Given the description of an element on the screen output the (x, y) to click on. 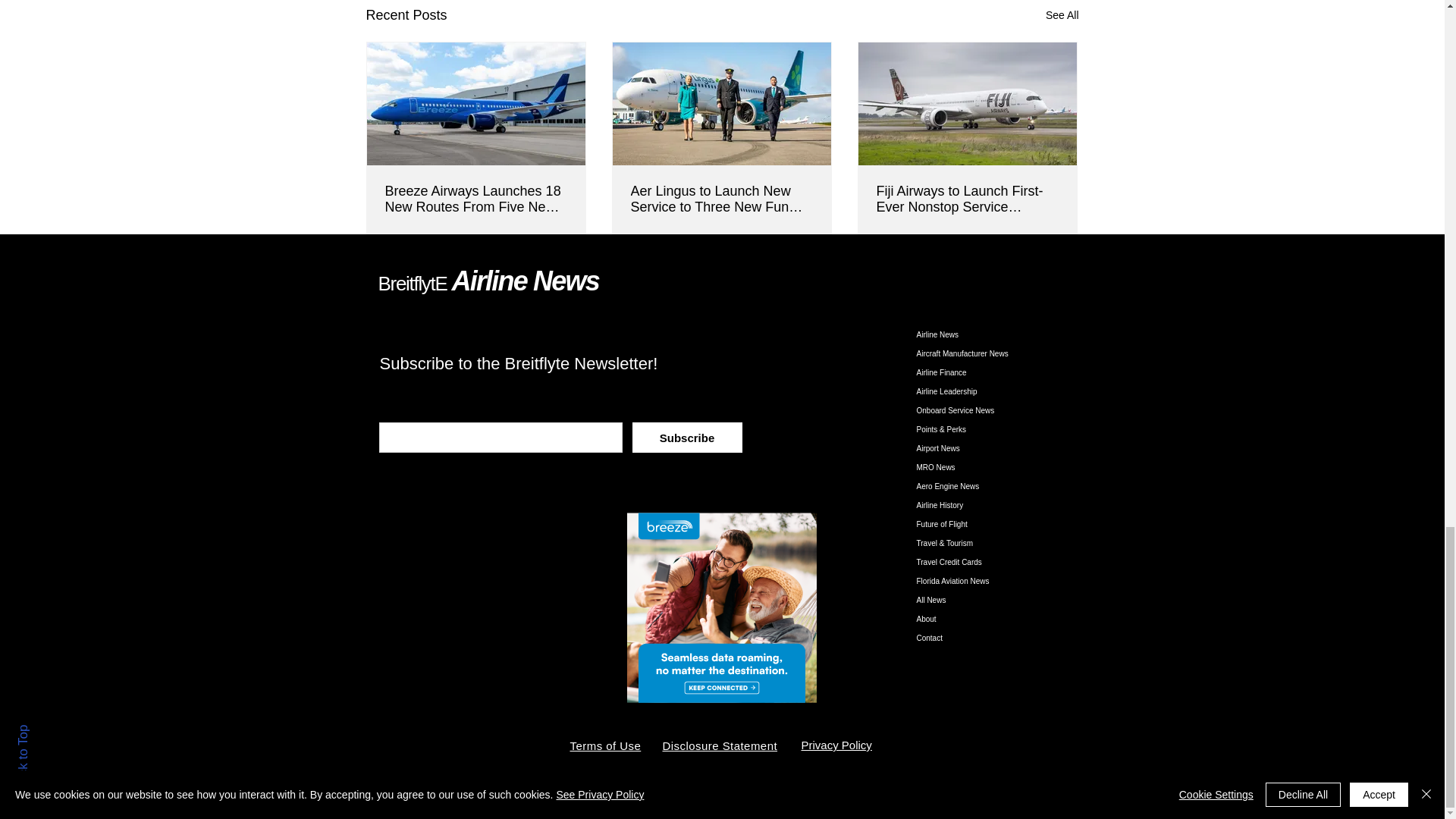
Breeze Airways Launches 18 New Routes From Five New Cities (476, 199)
See All (1061, 15)
Breit (395, 282)
Subscribe (686, 437)
